Given the description of an element on the screen output the (x, y) to click on. 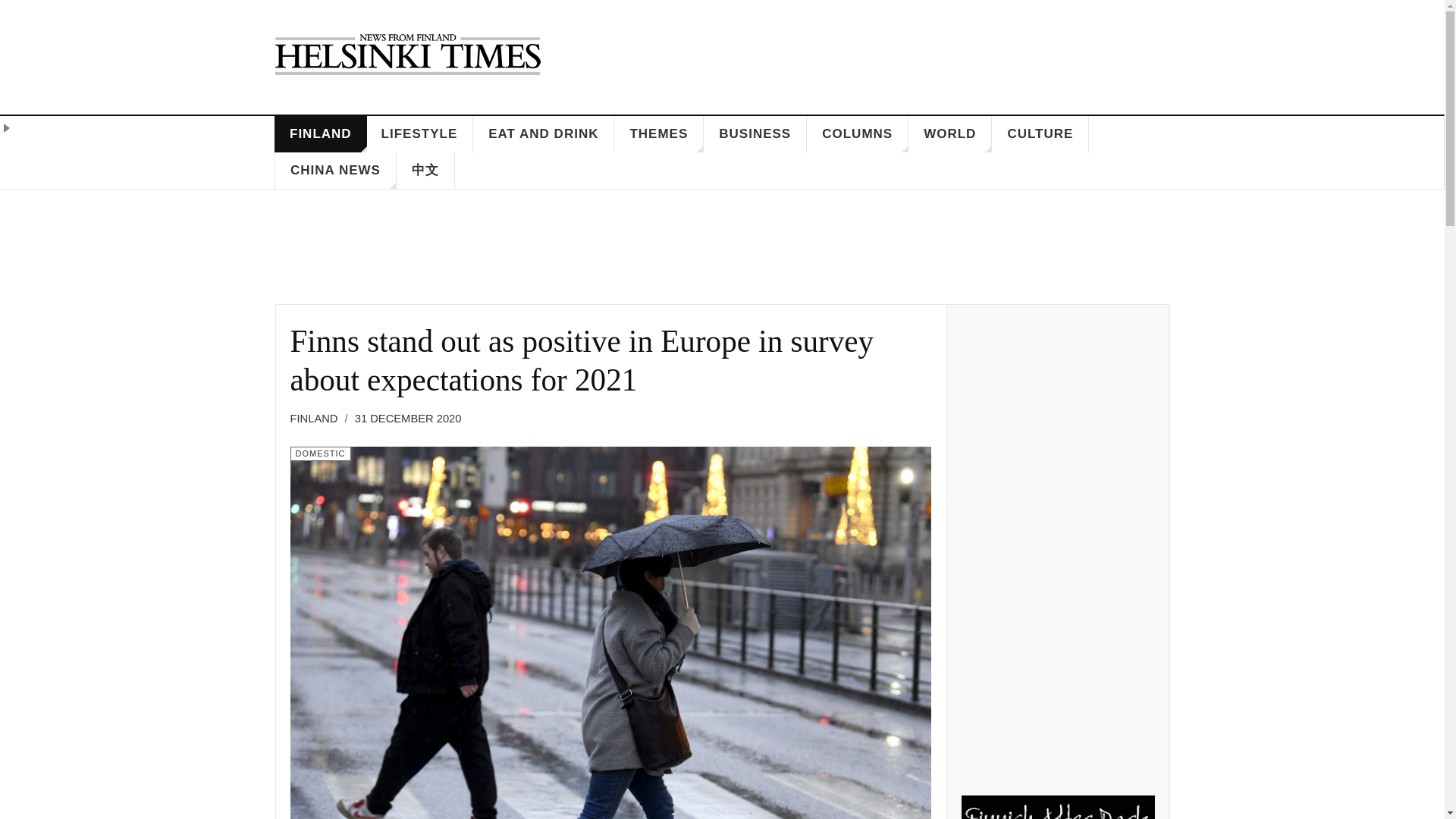
Advertisement (721, 253)
Category:  (319, 453)
Published:  (408, 418)
After-dark (1057, 807)
FINLAND (320, 134)
Parent Category:  (318, 418)
HelsinkiTimes (407, 54)
